Given the description of an element on the screen output the (x, y) to click on. 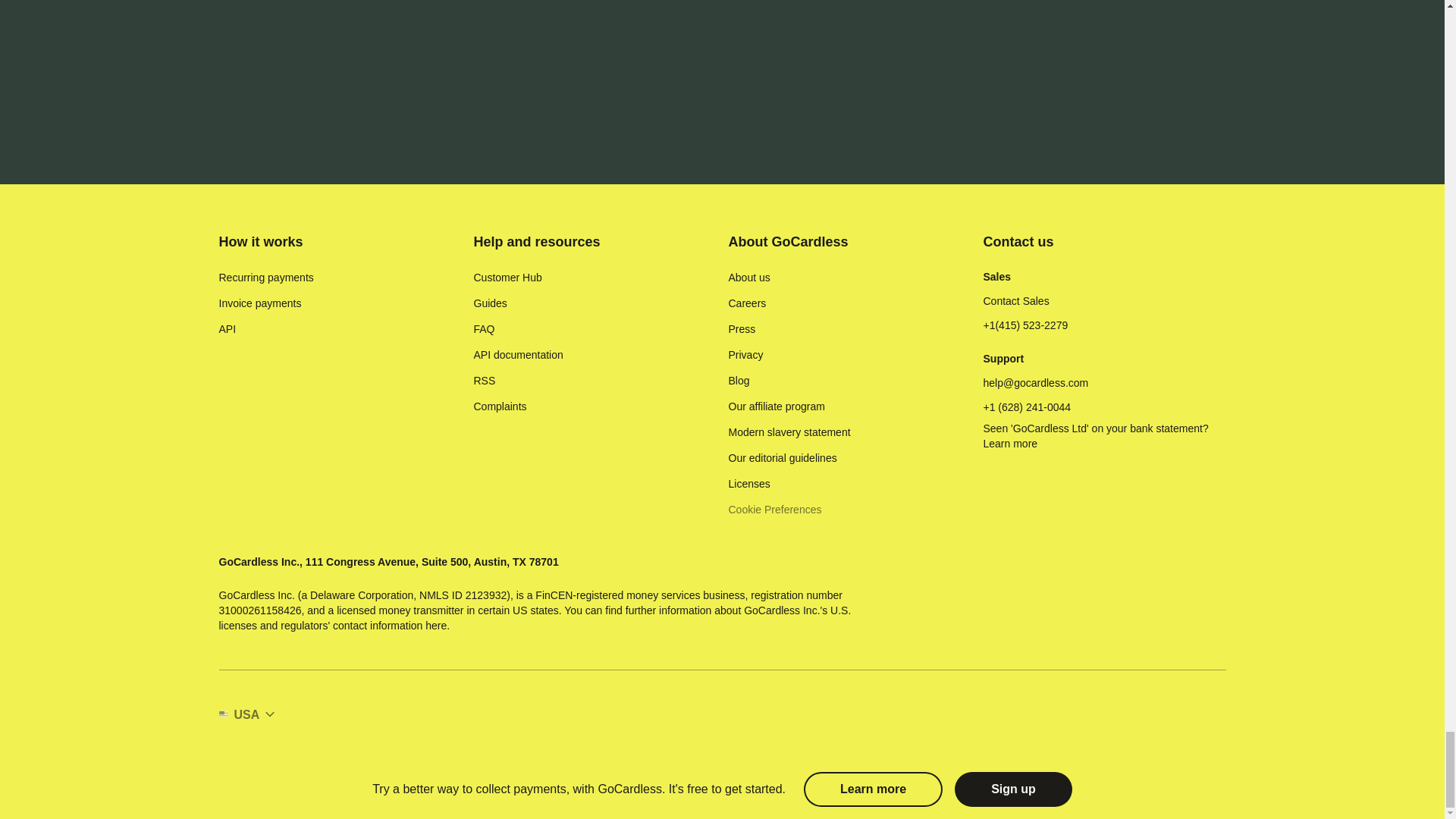
Recurring payments (265, 277)
Licenses (749, 483)
API documentation (517, 354)
API (226, 328)
Blog (738, 380)
Careers (746, 303)
FAQ (484, 328)
Complaints (499, 406)
Press (741, 328)
Guides (489, 303)
